Given the description of an element on the screen output the (x, y) to click on. 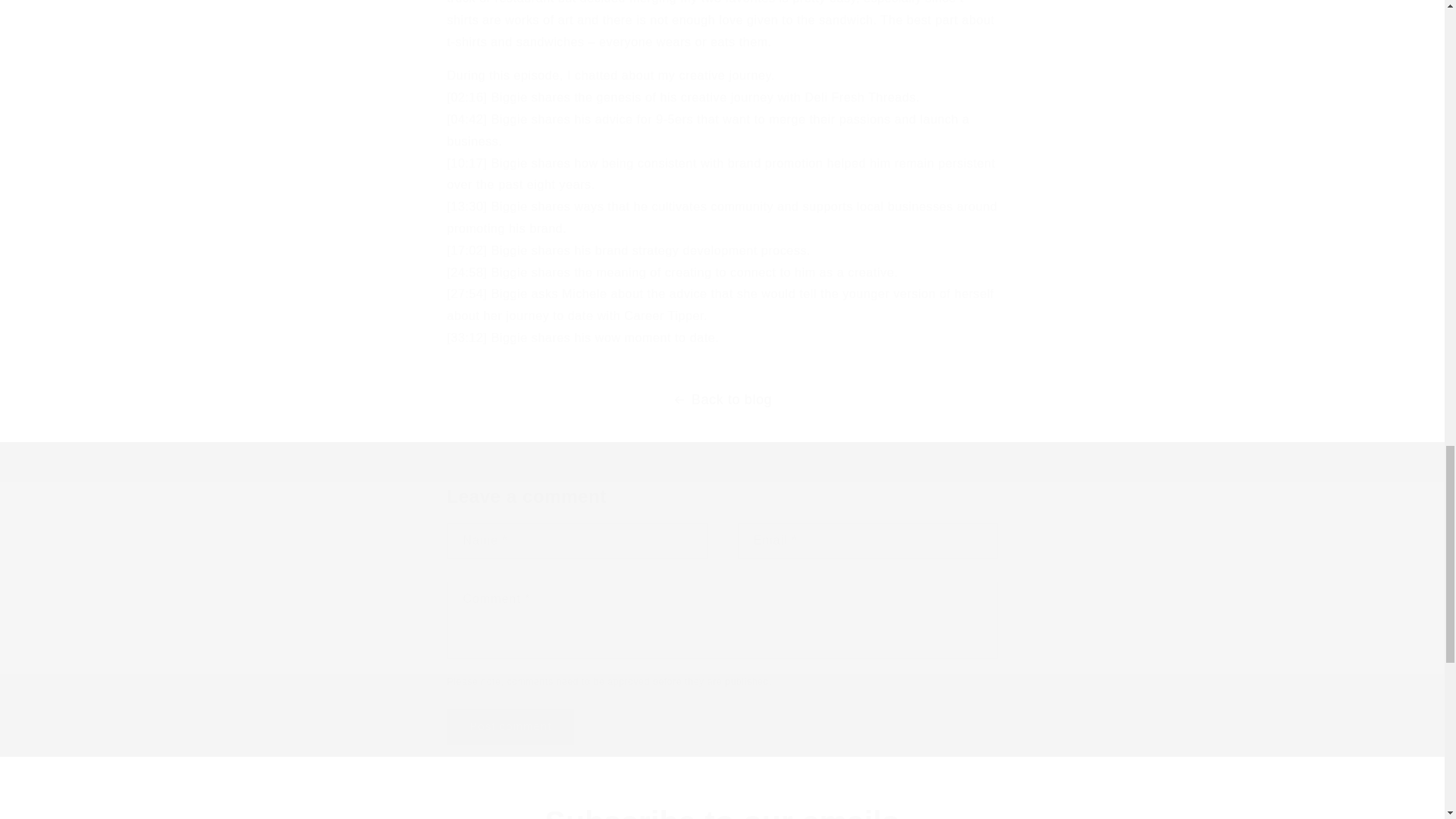
Subscribe to our emails (721, 810)
Post comment (510, 726)
